Given the description of an element on the screen output the (x, y) to click on. 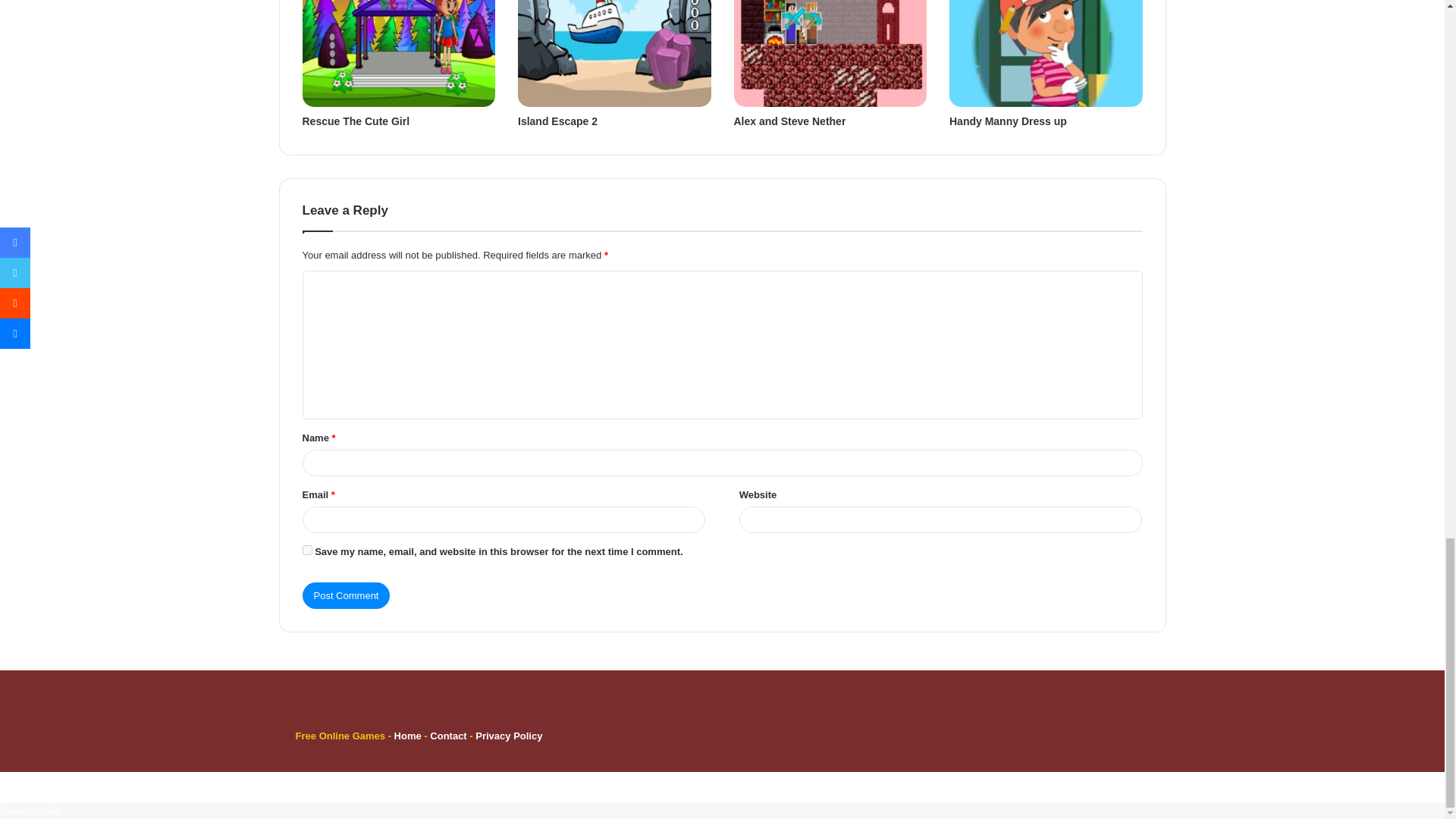
Home (408, 736)
Contact (448, 736)
Alex and Steve Nether (789, 121)
yes (306, 550)
Privacy Policy (508, 736)
Post Comment (345, 595)
Handy Manny Dress up (1008, 121)
Post Comment (345, 595)
Rescue The Cute Girl (355, 121)
Island Escape 2 (557, 121)
